Given the description of an element on the screen output the (x, y) to click on. 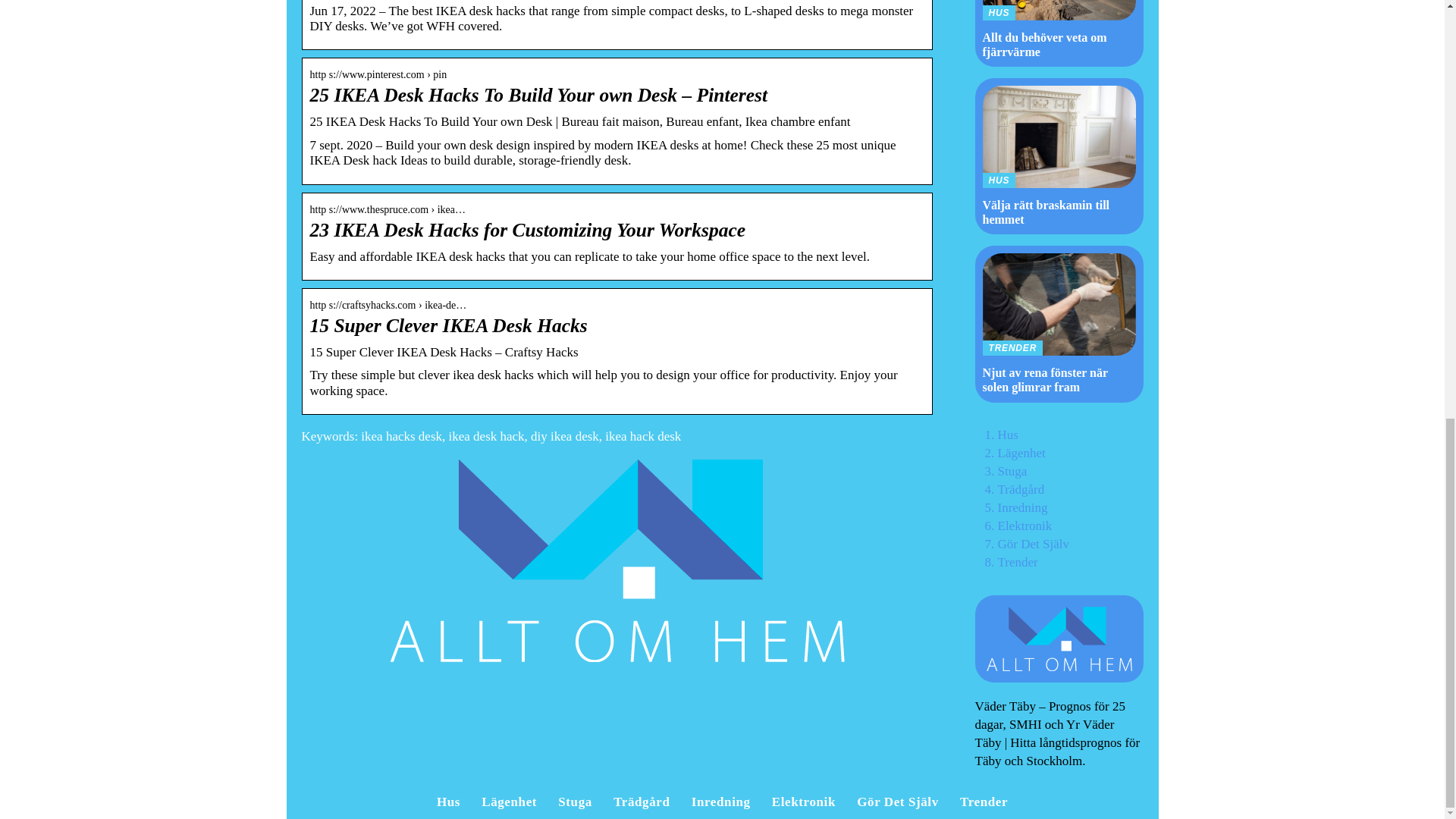
Inredning (1022, 507)
Inredning (721, 801)
Hus (448, 801)
Stuga (574, 801)
Stuga (1012, 471)
Elektronik (803, 801)
Trender (1017, 562)
Elektronik (1024, 525)
Trender (983, 801)
Hus (1007, 434)
